Given the description of an element on the screen output the (x, y) to click on. 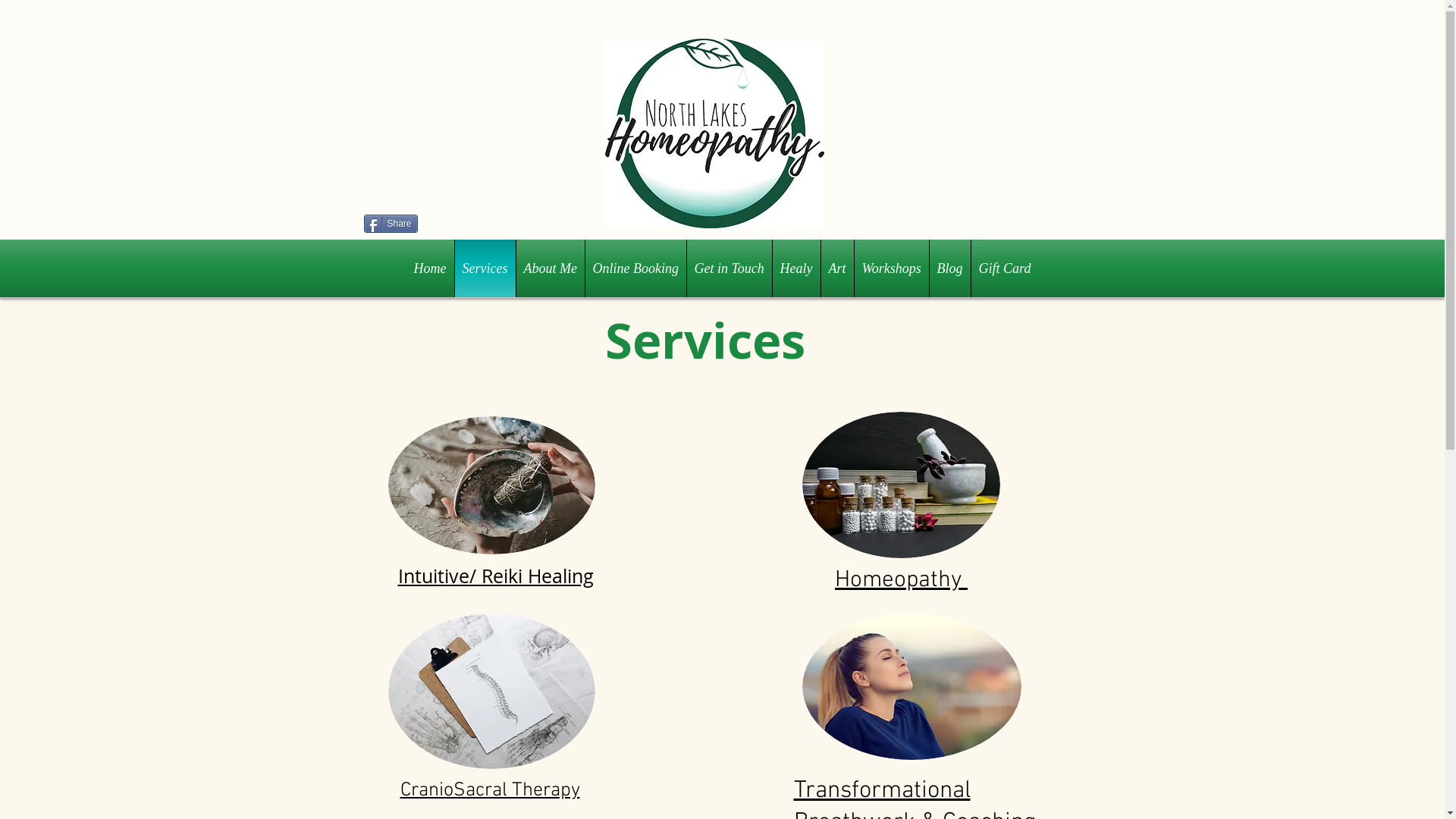
Workshops Element type: text (890, 268)
About Me Element type: text (549, 268)
Homeopathy  Element type: text (900, 579)
Healy Element type: text (795, 268)
CranioSacral Therapy Element type: text (490, 790)
Home Element type: text (430, 268)
Art Element type: text (836, 268)
Intuitive/ Reiki Healing Element type: text (495, 574)
Gift Card Element type: text (1004, 268)
Share Element type: text (390, 223)
Get in Touch Element type: text (729, 268)
Services Element type: text (485, 268)
Blog Element type: text (949, 268)
Online Booking Element type: text (635, 268)
